Given the description of an element on the screen output the (x, y) to click on. 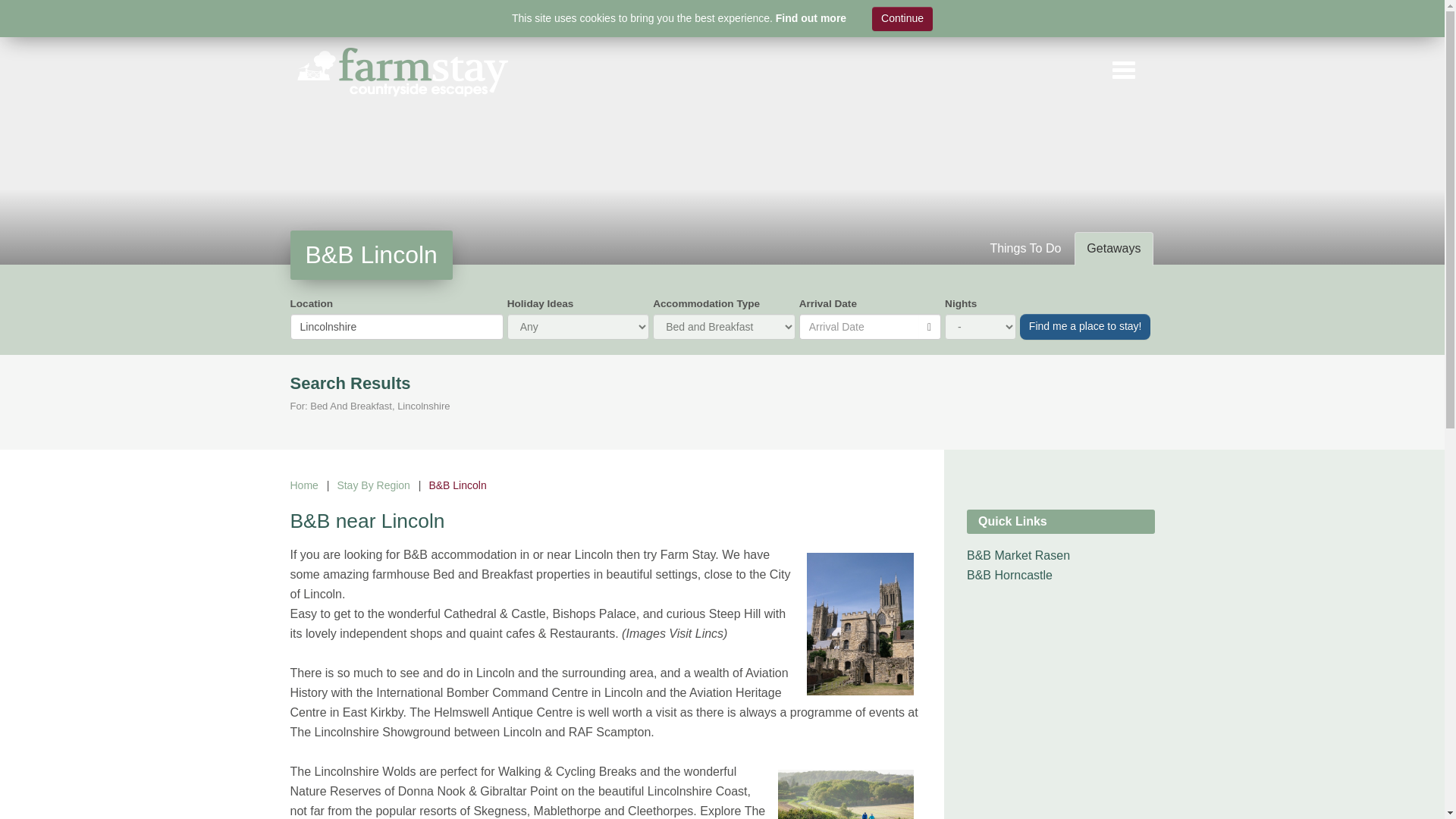
Getaways (1113, 248)
Find me a place to stay! (1085, 326)
Continue (902, 18)
Things To Do (1024, 248)
Continue (902, 18)
Lincolnshire (395, 326)
Skip to main content (21, 21)
Home (303, 485)
Find me a place to stay! (1085, 326)
Stay By Region (373, 485)
